Given the description of an element on the screen output the (x, y) to click on. 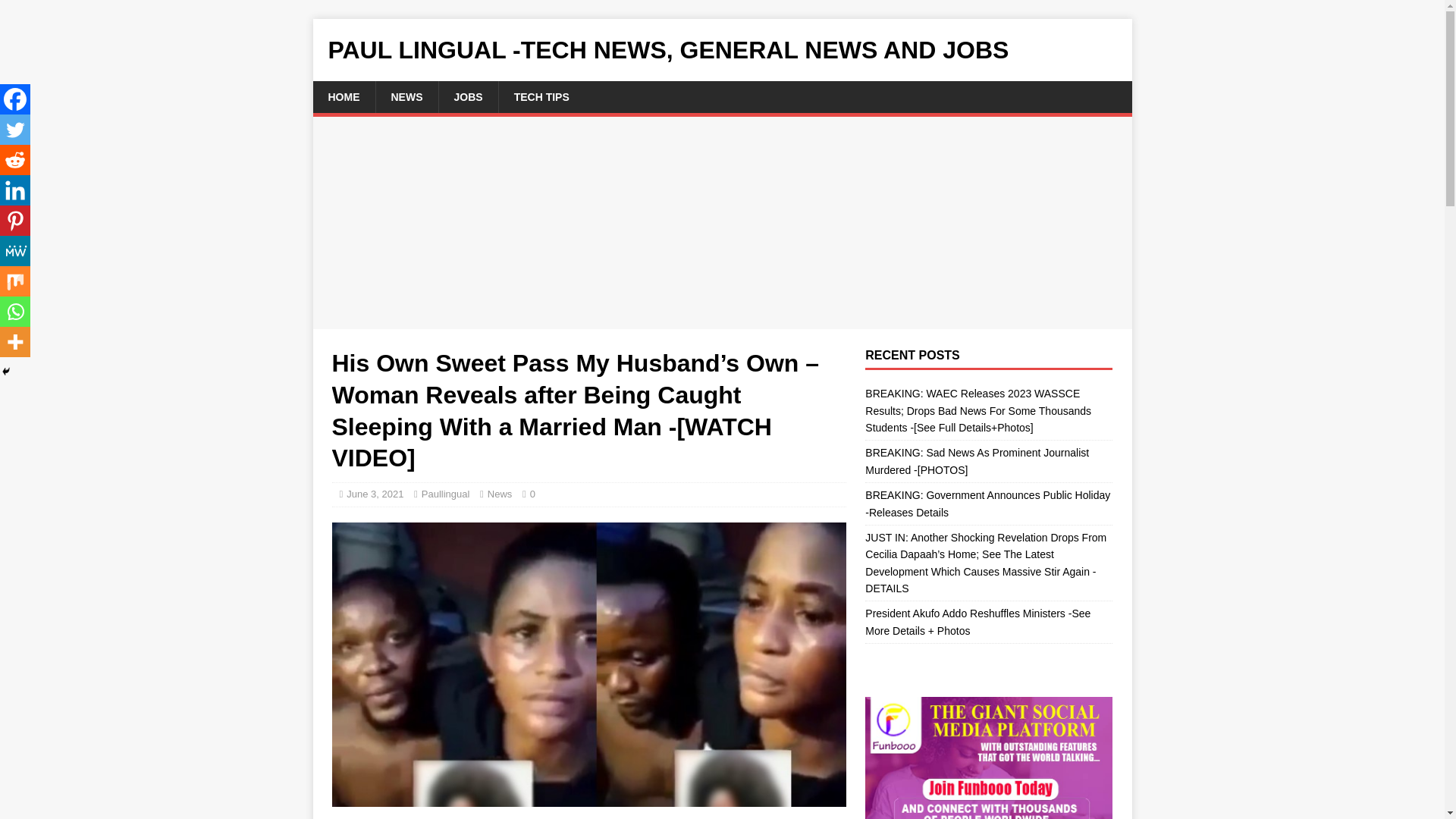
JOBS (467, 97)
News (499, 493)
Paullingual (446, 493)
June 3, 2021 (374, 493)
NEWS (406, 97)
PAUL LINGUAL -Tech News, General News and Jobs (721, 49)
PAUL LINGUAL -TECH NEWS, GENERAL NEWS AND JOBS (721, 49)
TECH TIPS (541, 97)
